Given the description of an element on the screen output the (x, y) to click on. 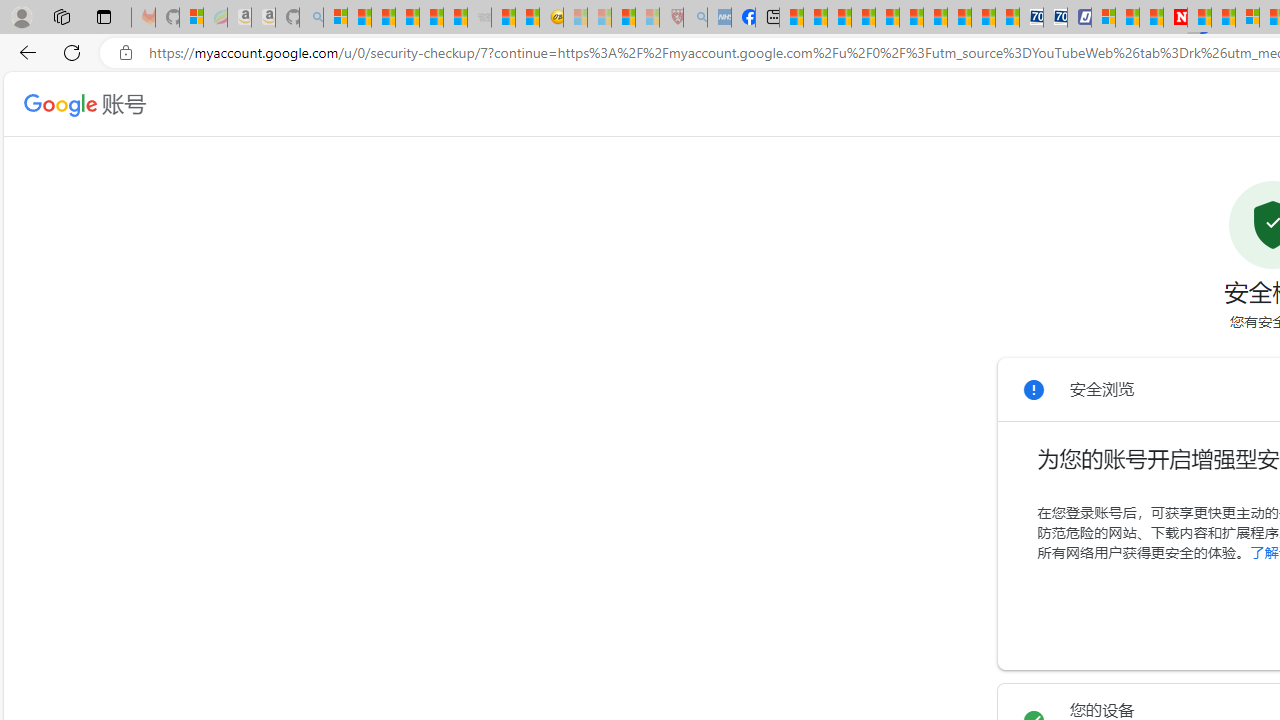
Climate Damage Becomes Too Severe To Reverse (863, 17)
